Given the description of an element on the screen output the (x, y) to click on. 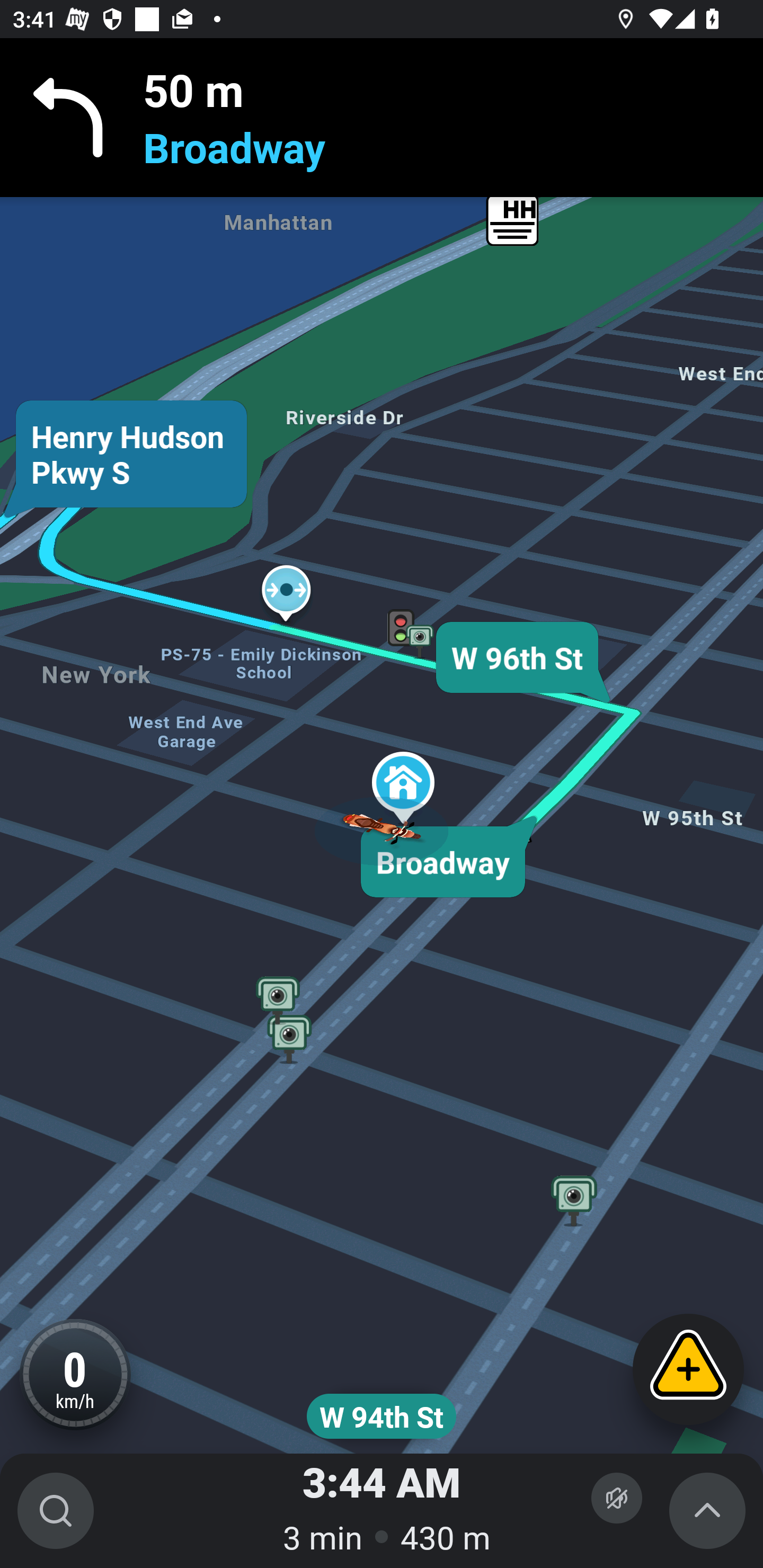
50 m Broadway (381, 117)
3:44 AM 3 min 430 m (381, 1510)
